Given the description of an element on the screen output the (x, y) to click on. 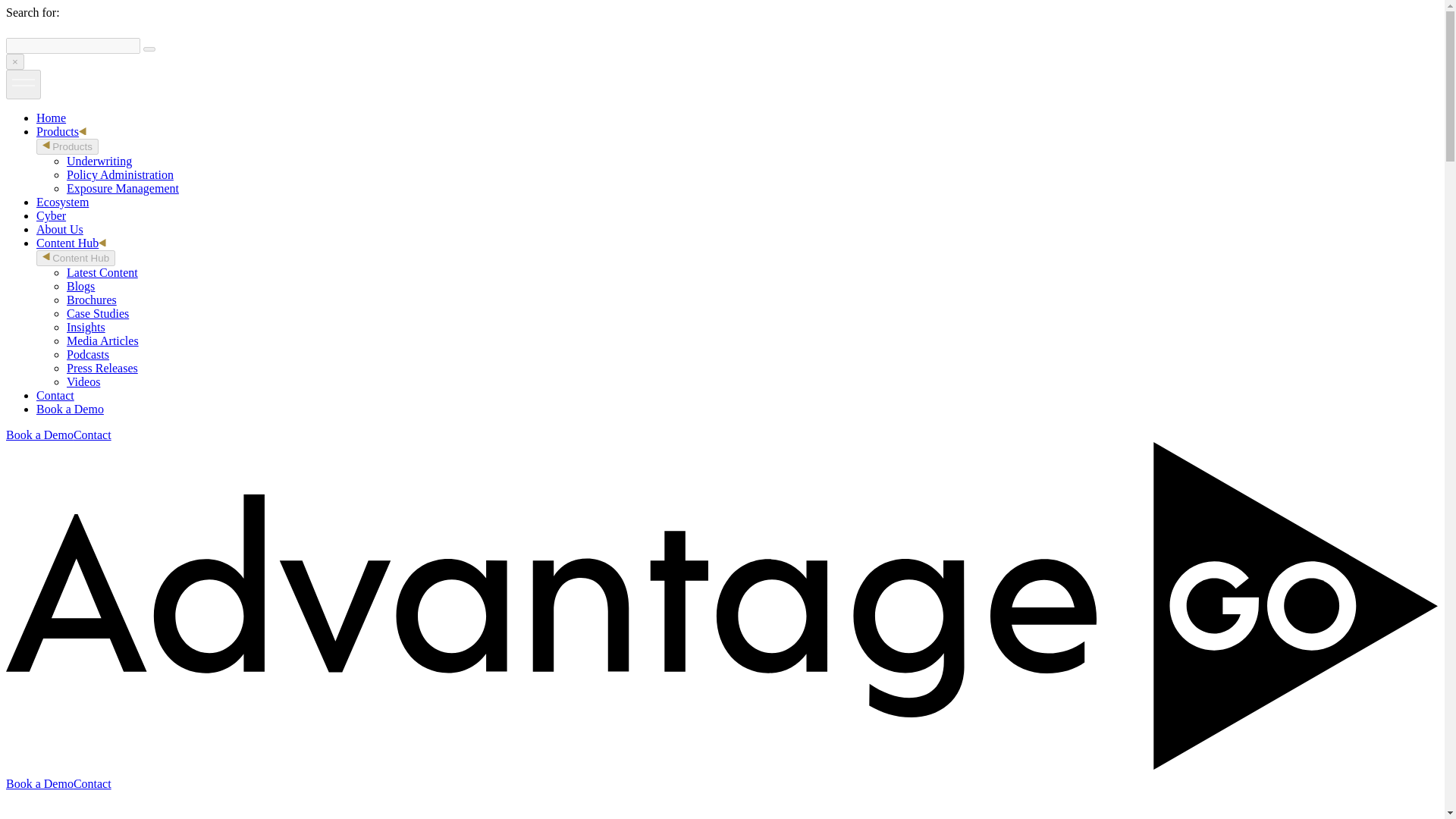
Latest Content (102, 272)
Book a Demo (69, 408)
Cyber (50, 215)
Underwriting (99, 160)
Contact (93, 434)
Contact (55, 395)
Blogs (80, 286)
Case Studies (97, 313)
Products (60, 131)
Brochures (91, 299)
